Given the description of an element on the screen output the (x, y) to click on. 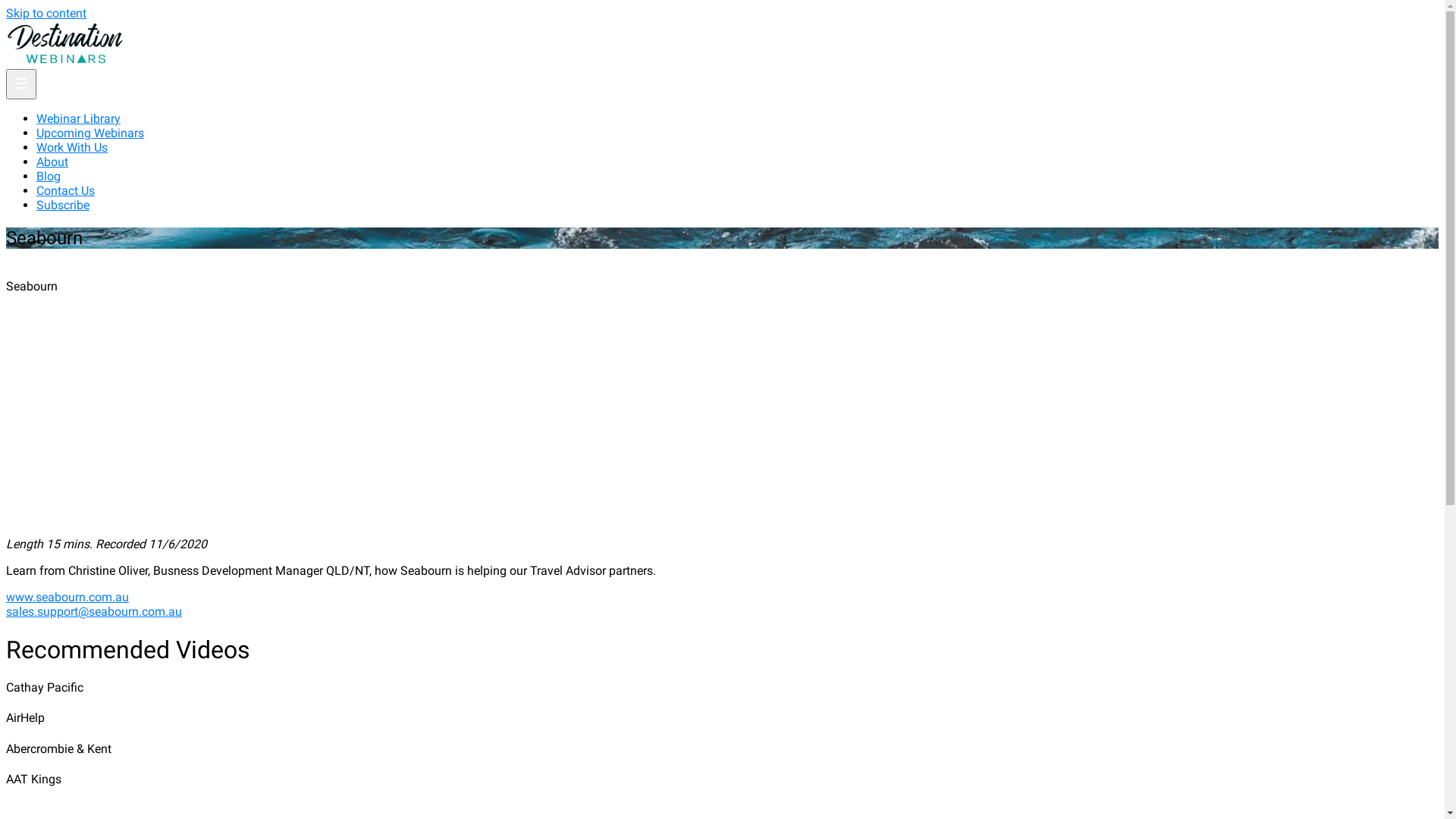
Blog Element type: text (48, 176)
www.seabourn.com.au Element type: text (67, 596)
About Element type: text (52, 161)
Work With Us Element type: text (71, 147)
Subscribe Element type: text (62, 204)
Upcoming Webinars Element type: text (90, 132)
Skip to content Element type: text (46, 13)
sales.support@seabourn.com.au Element type: text (94, 611)
Contact Us Element type: text (65, 190)
Webinar Library Element type: text (78, 118)
